Given the description of an element on the screen output the (x, y) to click on. 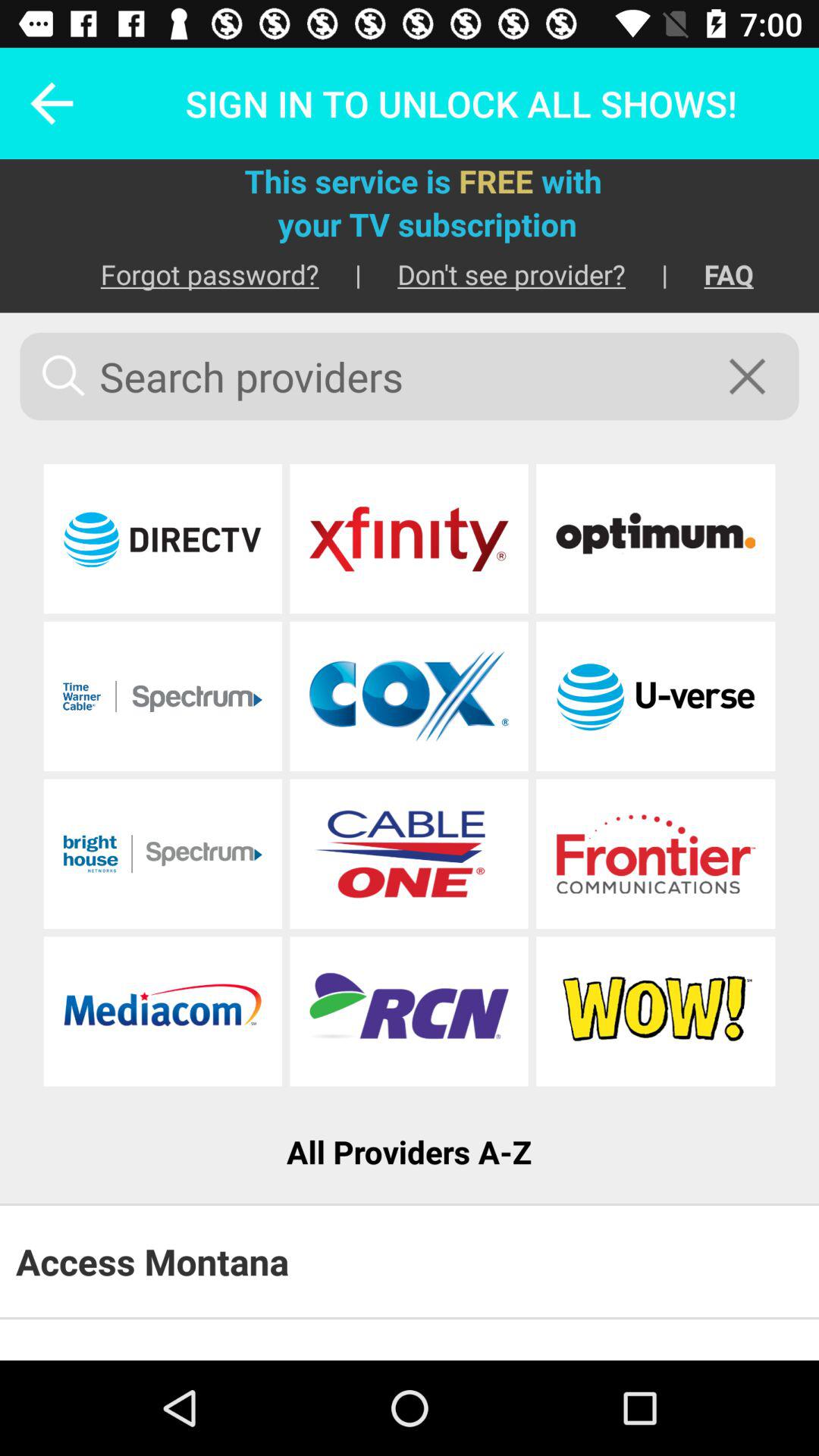
sign in with bright house spectrum (162, 853)
